Given the description of an element on the screen output the (x, y) to click on. 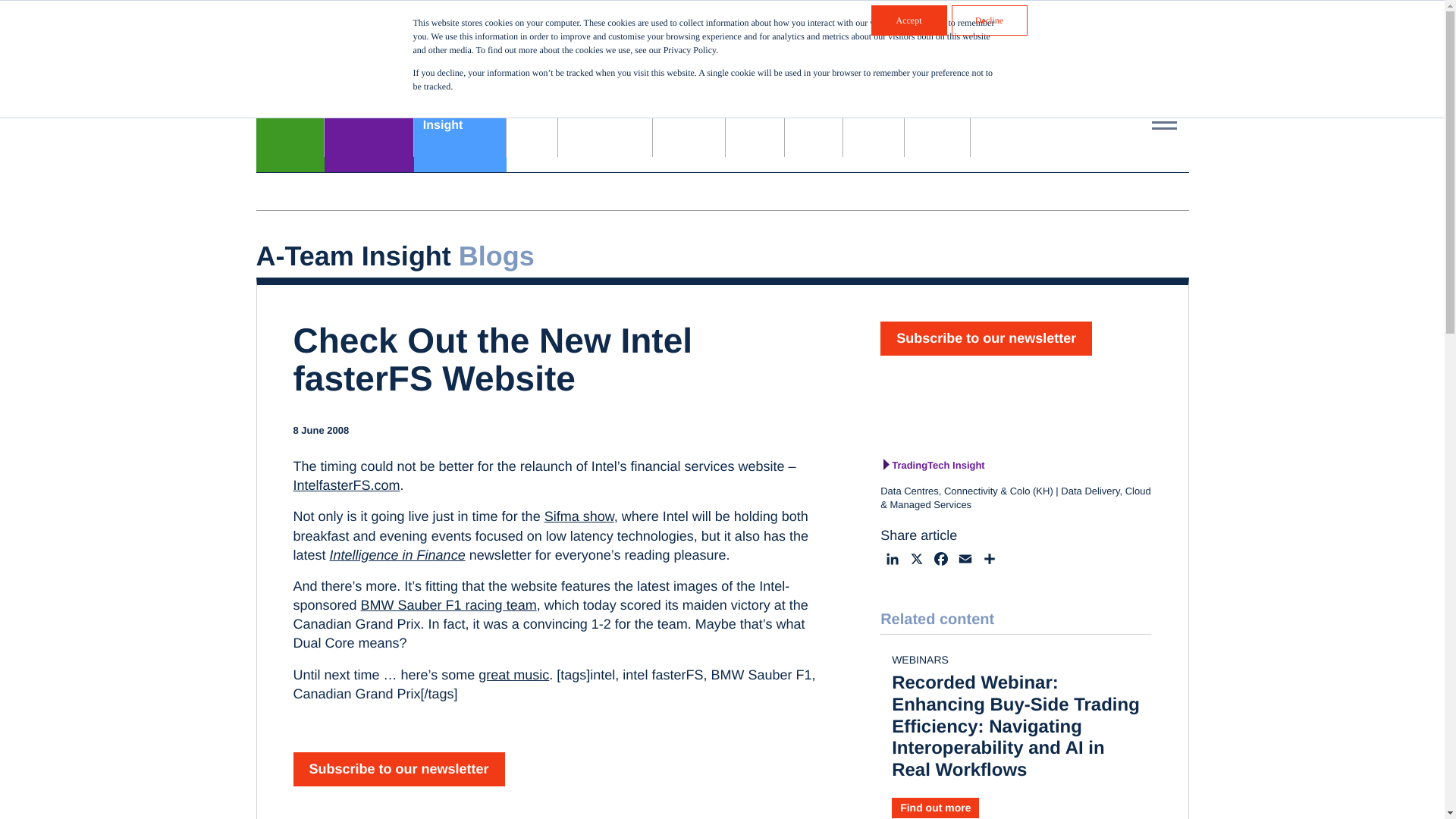
Decline (988, 20)
Sign up for our newsletter (961, 65)
LinkedIn (892, 561)
X (916, 561)
ABOUT A-TEAM (459, 124)
Accept (851, 25)
Facebook (908, 20)
MARKETING SERVICES (368, 124)
Email (940, 561)
